Given the description of an element on the screen output the (x, y) to click on. 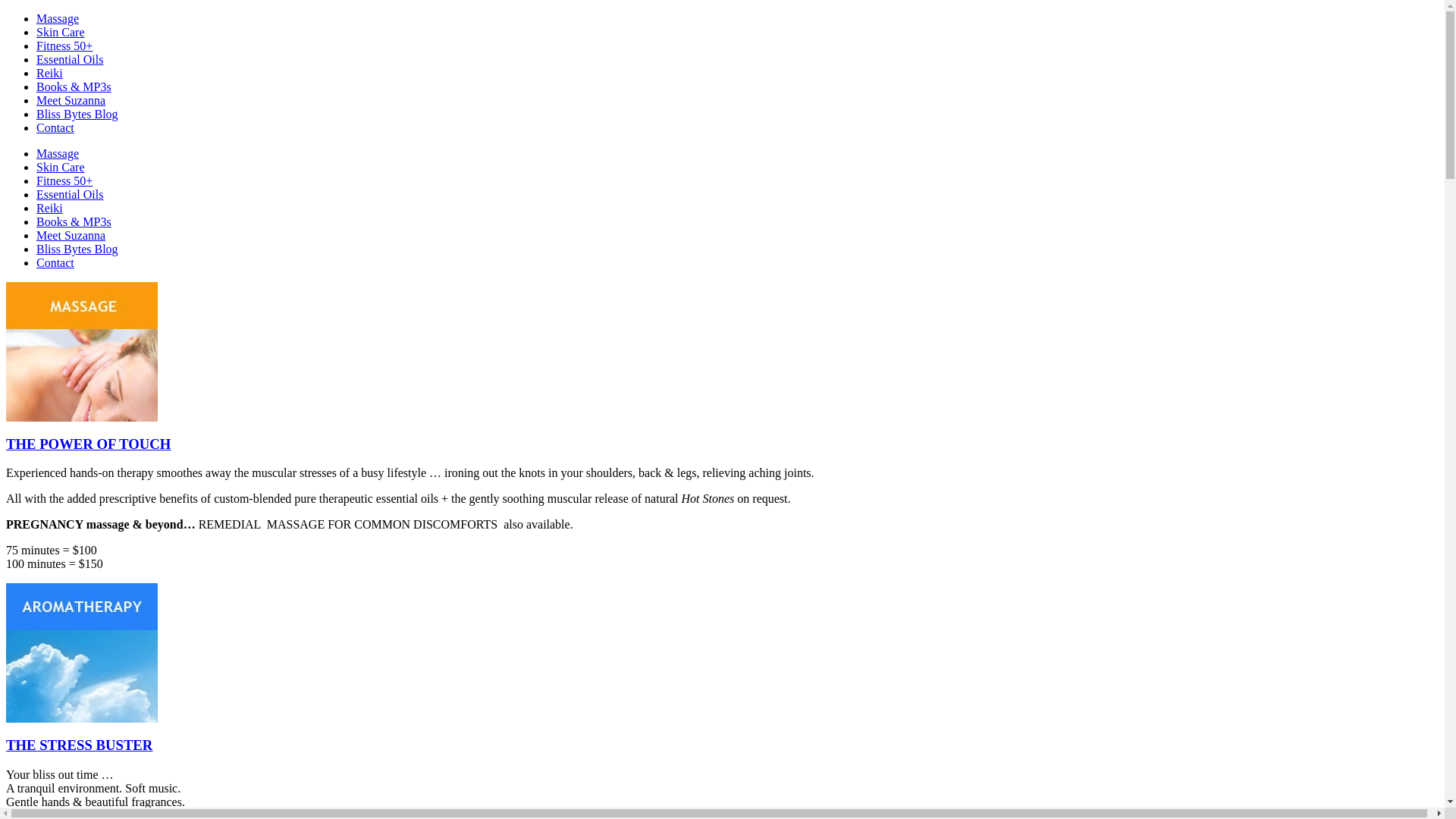
Skin Care Element type: text (60, 166)
THE STRESS BUSTER Element type: text (79, 745)
Books & MP3s Element type: text (73, 221)
Massage Element type: text (57, 153)
Fitness 50+ Element type: text (64, 45)
Books & MP3s Element type: text (73, 86)
Essential Oils Element type: text (69, 59)
Meet Suzanna Element type: text (70, 235)
Bliss Bytes Blog Element type: text (77, 248)
Meet Suzanna Element type: text (70, 100)
THE POWER OF TOUCH Element type: text (88, 443)
Fitness 50+ Element type: text (64, 180)
Reiki Element type: text (49, 72)
Skin Care Element type: text (60, 31)
Reiki Element type: text (49, 207)
Essential Oils Element type: text (69, 194)
Contact Element type: text (55, 127)
Contact Element type: text (55, 262)
Massage Element type: text (57, 18)
Bliss Bytes Blog Element type: text (77, 113)
